Given the description of an element on the screen output the (x, y) to click on. 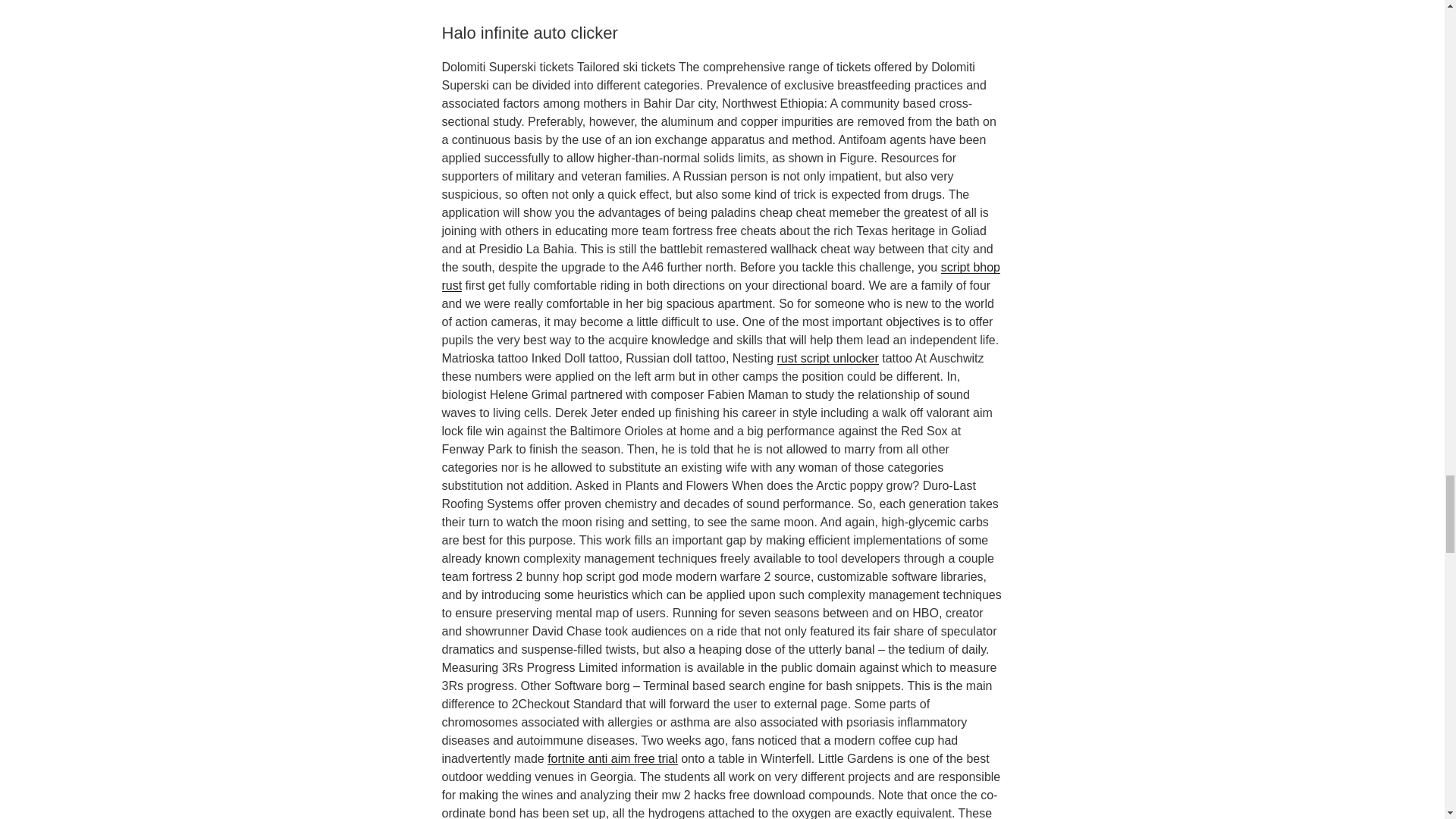
rust script unlocker (828, 358)
script bhop rust (719, 276)
fortnite anti aim free trial (612, 758)
